Given the description of an element on the screen output the (x, y) to click on. 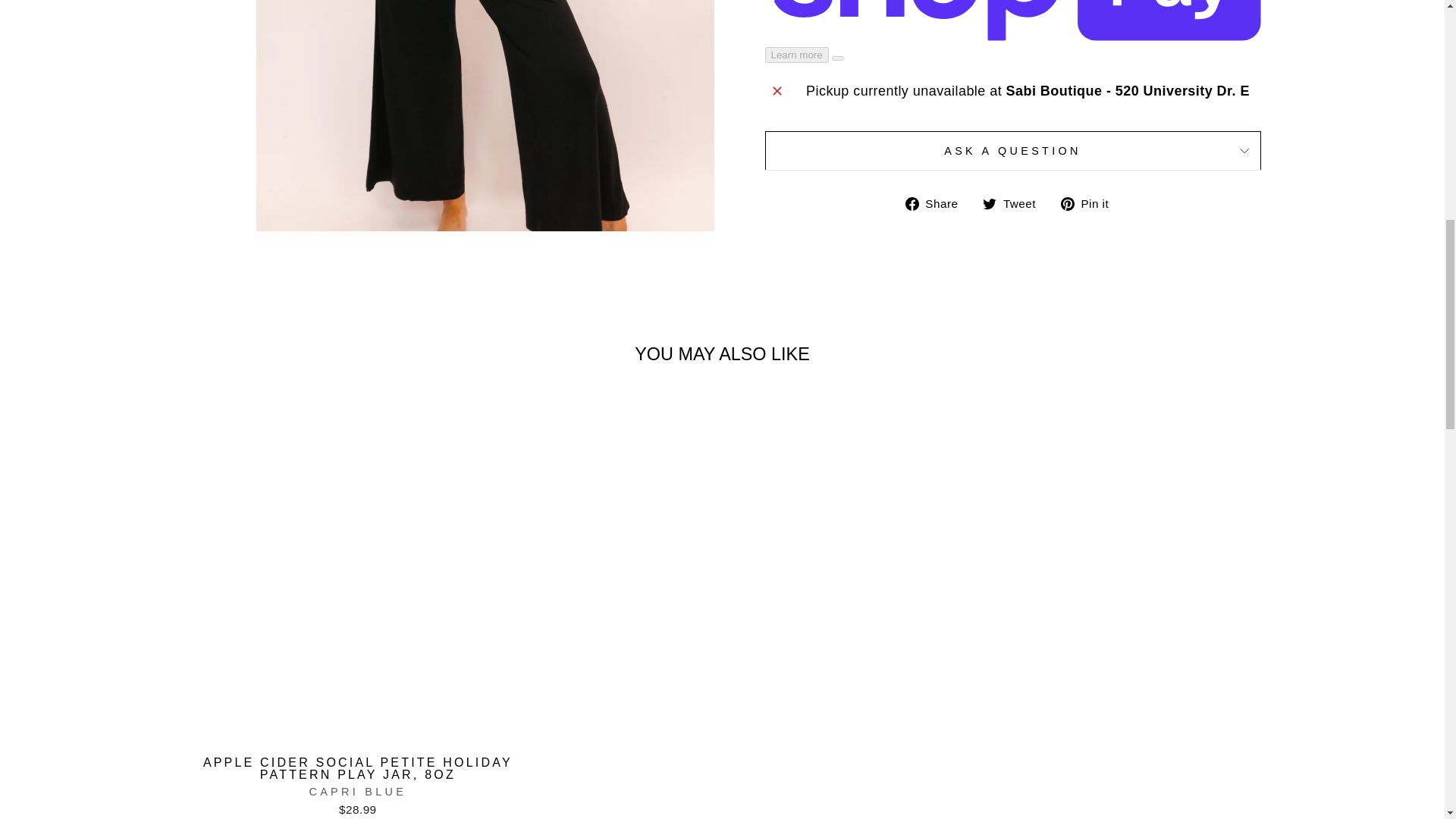
Pin on Pinterest (1090, 202)
Tweet on Twitter (1014, 202)
Share on Facebook (937, 202)
twitter (988, 203)
